Given the description of an element on the screen output the (x, y) to click on. 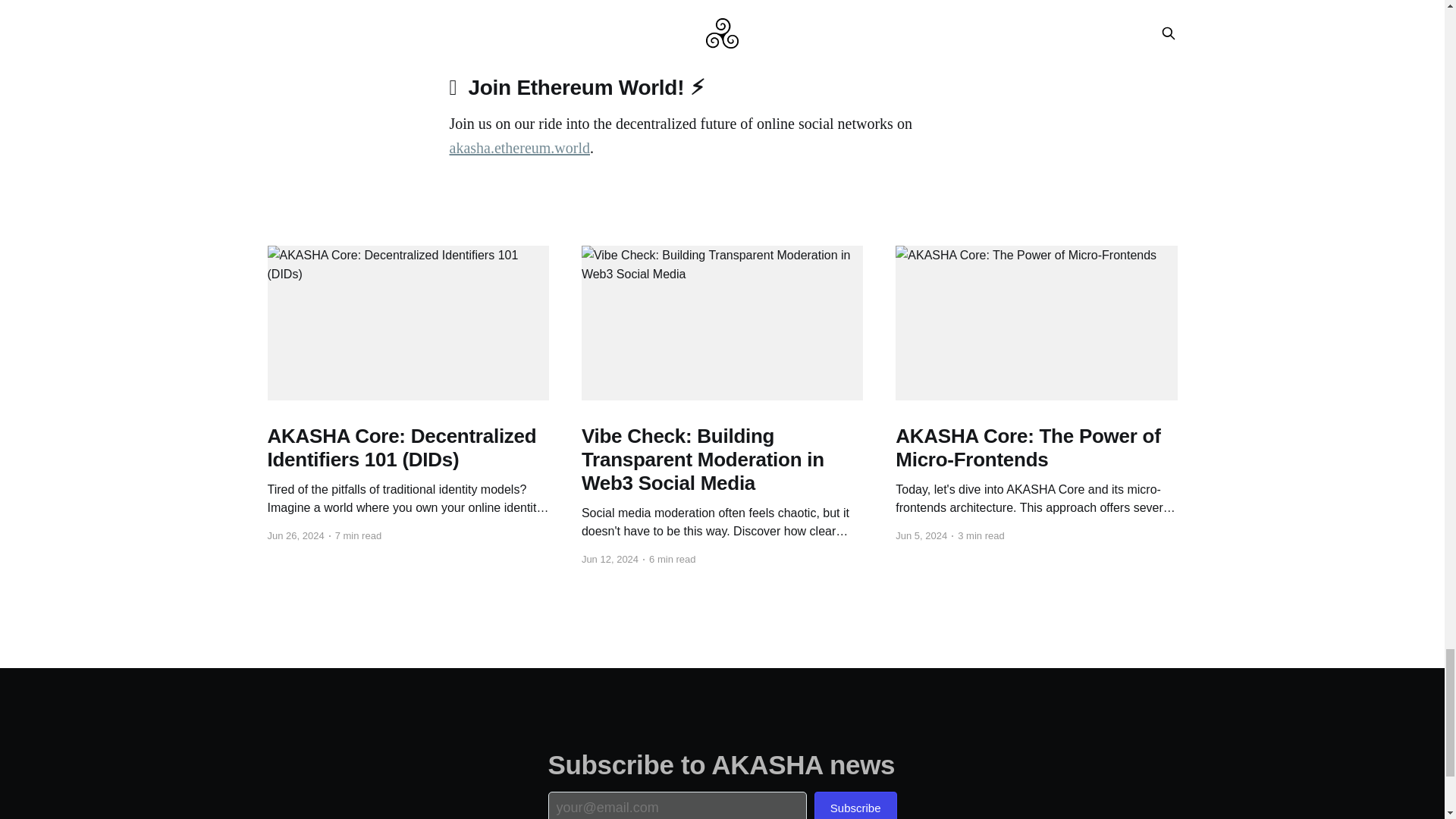
akasha.ethereum.world (518, 147)
Subscribe (854, 805)
forum (955, 21)
Subscribe (854, 805)
